Given the description of an element on the screen output the (x, y) to click on. 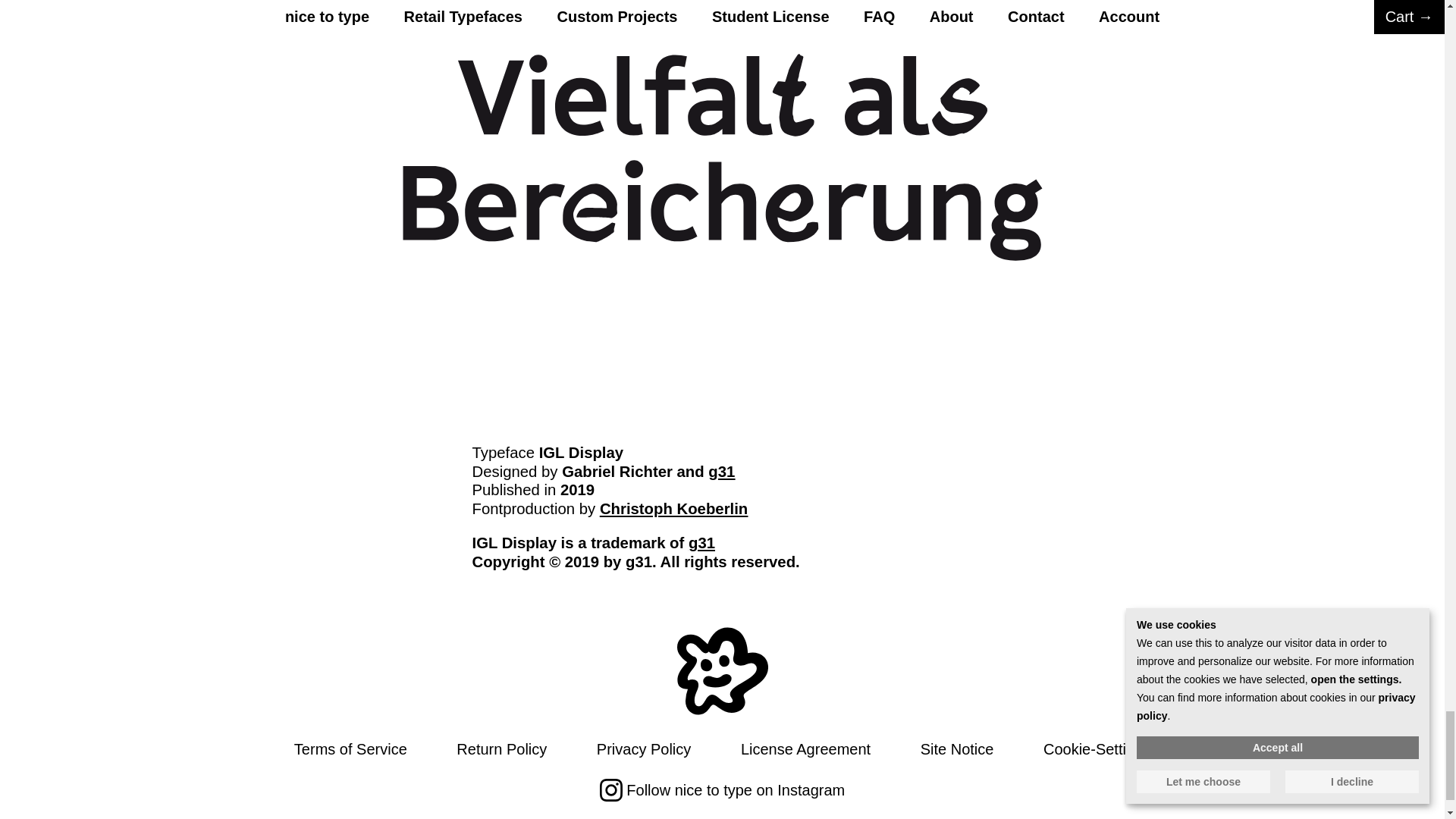
Christoph Koeberlin (673, 508)
g31 (701, 542)
Terms of Service (350, 749)
g31 (721, 471)
Return Policy (502, 749)
